Given the description of an element on the screen output the (x, y) to click on. 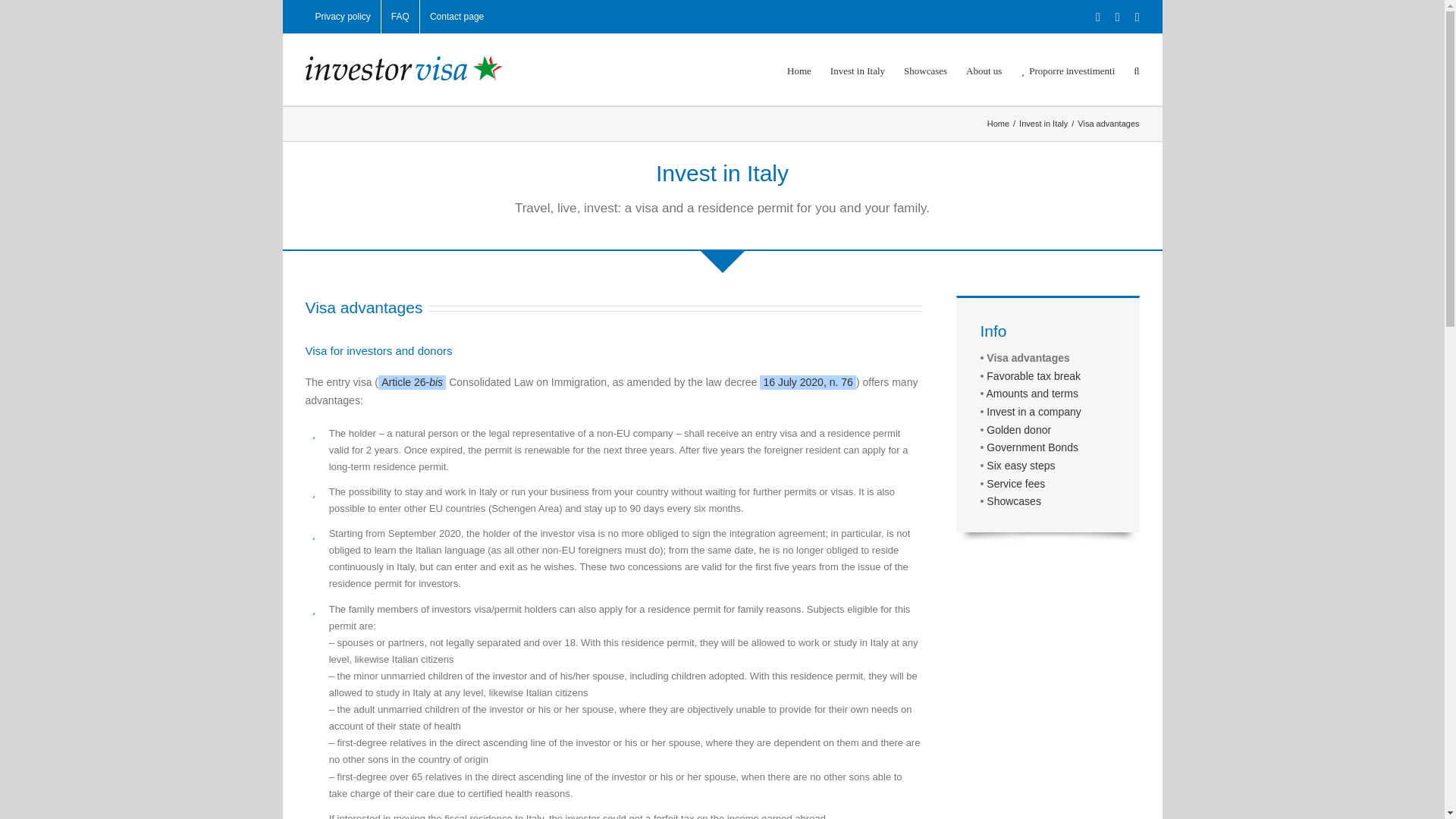
Contact page (456, 16)
Golden donor (1019, 429)
Favorable tax break (1033, 376)
FAQ (400, 16)
Proporre investimenti (1067, 69)
Invest in a company (1034, 411)
Invest in Italy (1043, 122)
Home (998, 122)
Six easy steps (1020, 465)
Government Bonds (1032, 447)
